Given the description of an element on the screen output the (x, y) to click on. 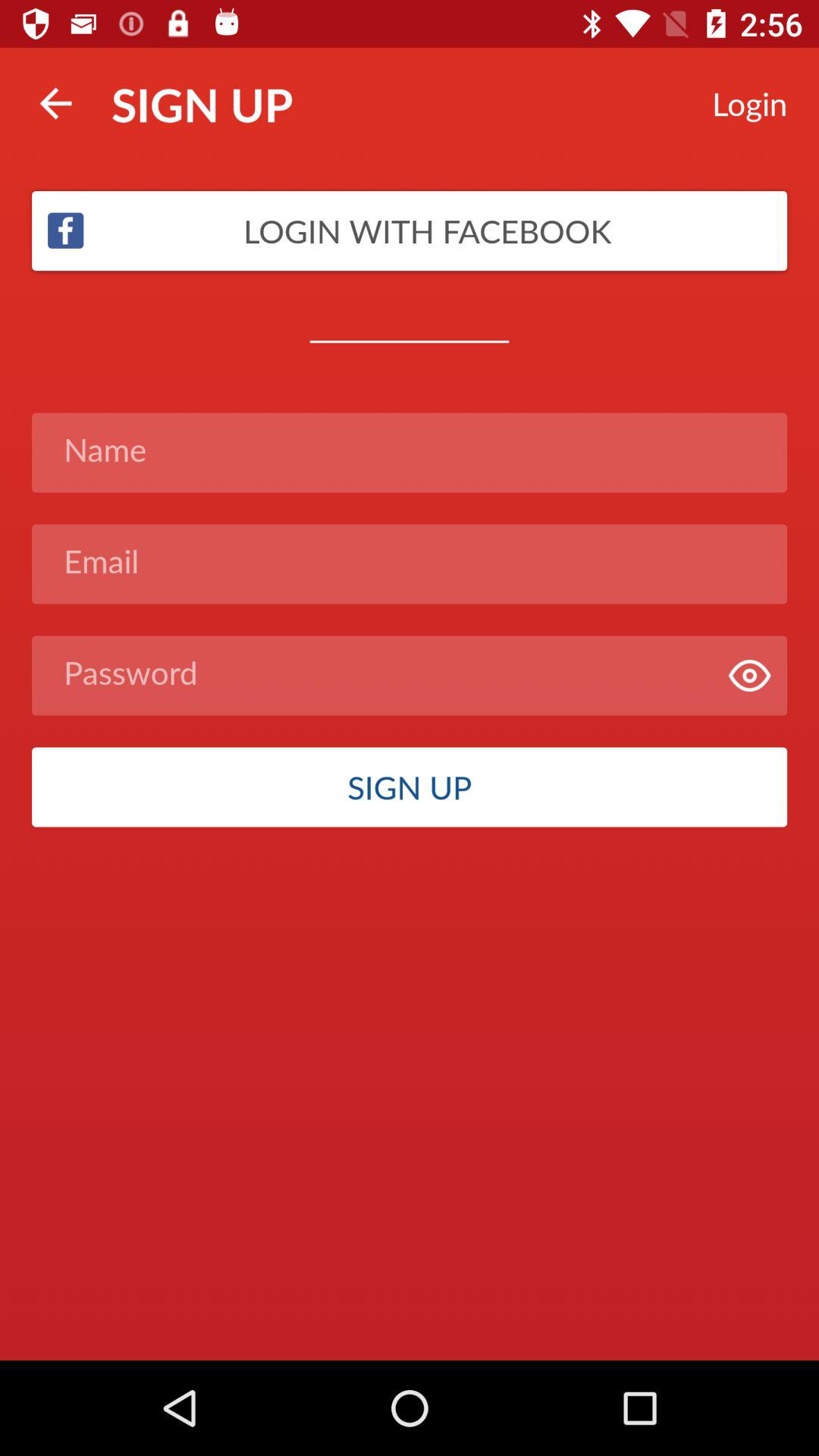
open item above the sign up item (409, 675)
